Given the description of an element on the screen output the (x, y) to click on. 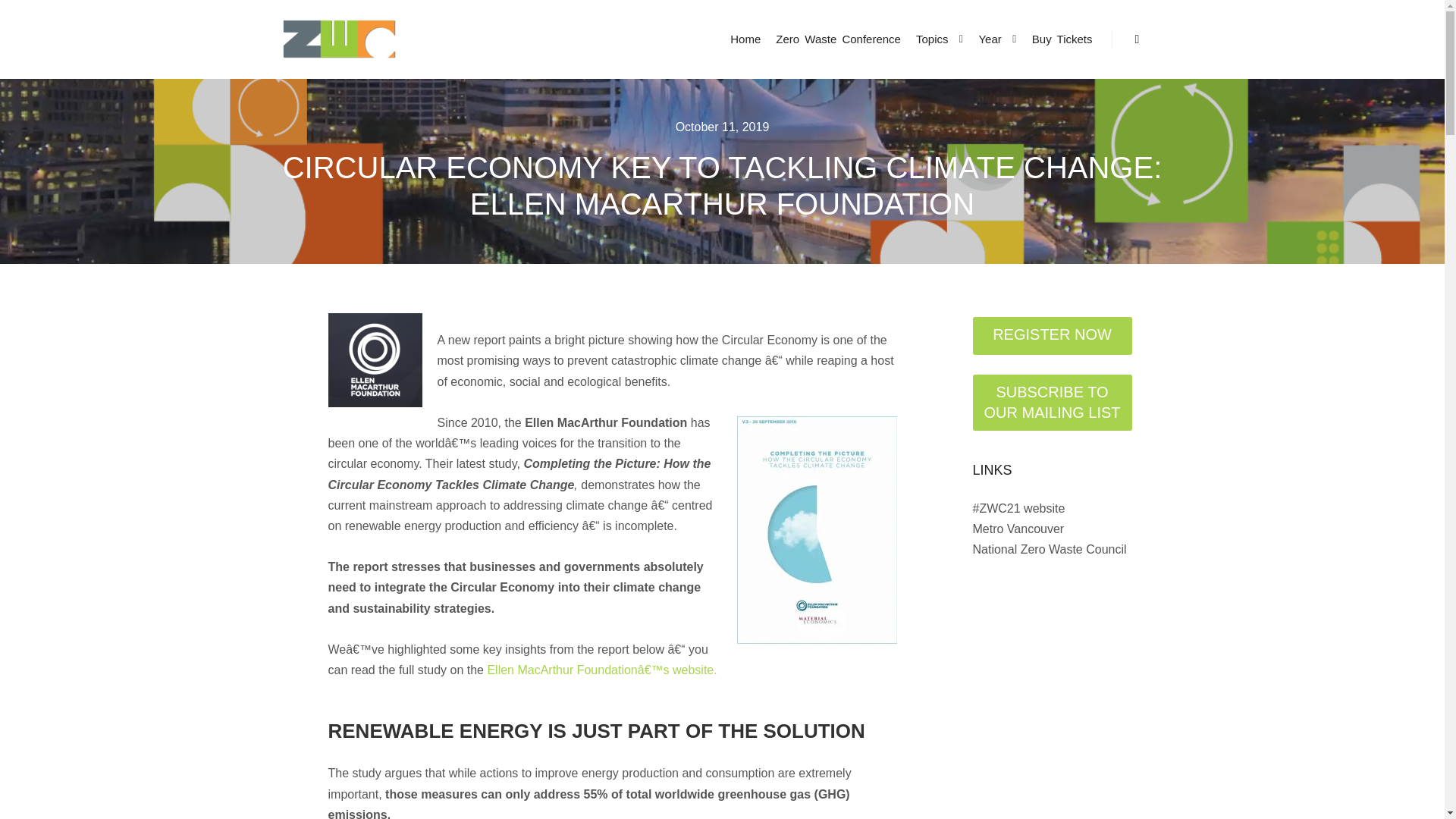
Search (1137, 39)
Buy Tickets (1062, 39)
Zero Waste Conference (838, 39)
REGISTER NOW (1051, 335)
Metro Vancouver Zero Waste Conference Blog (339, 39)
Search (1137, 39)
